Given the description of an element on the screen output the (x, y) to click on. 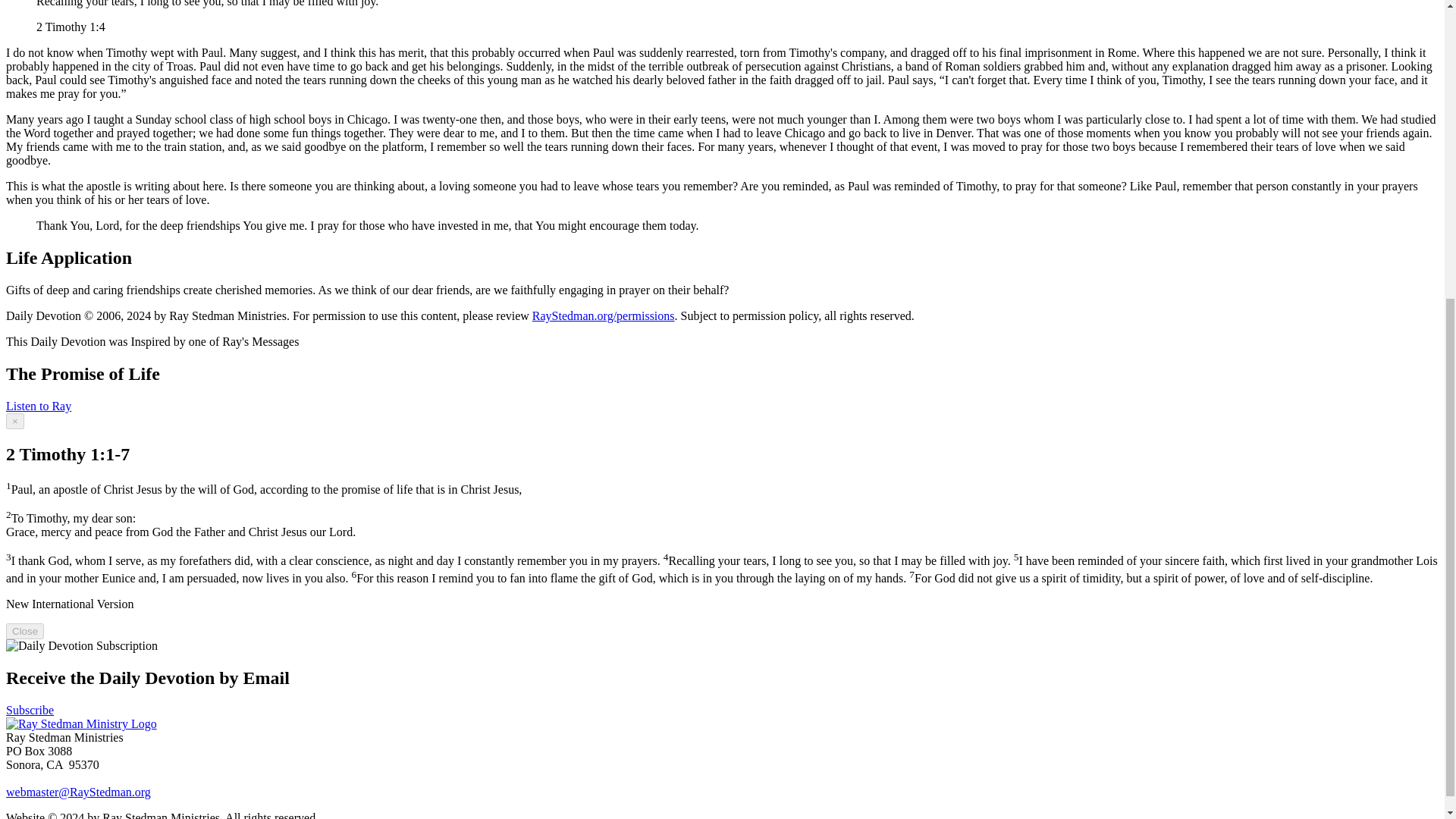
Listen to Ray (38, 405)
Subscribe (29, 709)
Home (81, 723)
Close (24, 631)
